Given the description of an element on the screen output the (x, y) to click on. 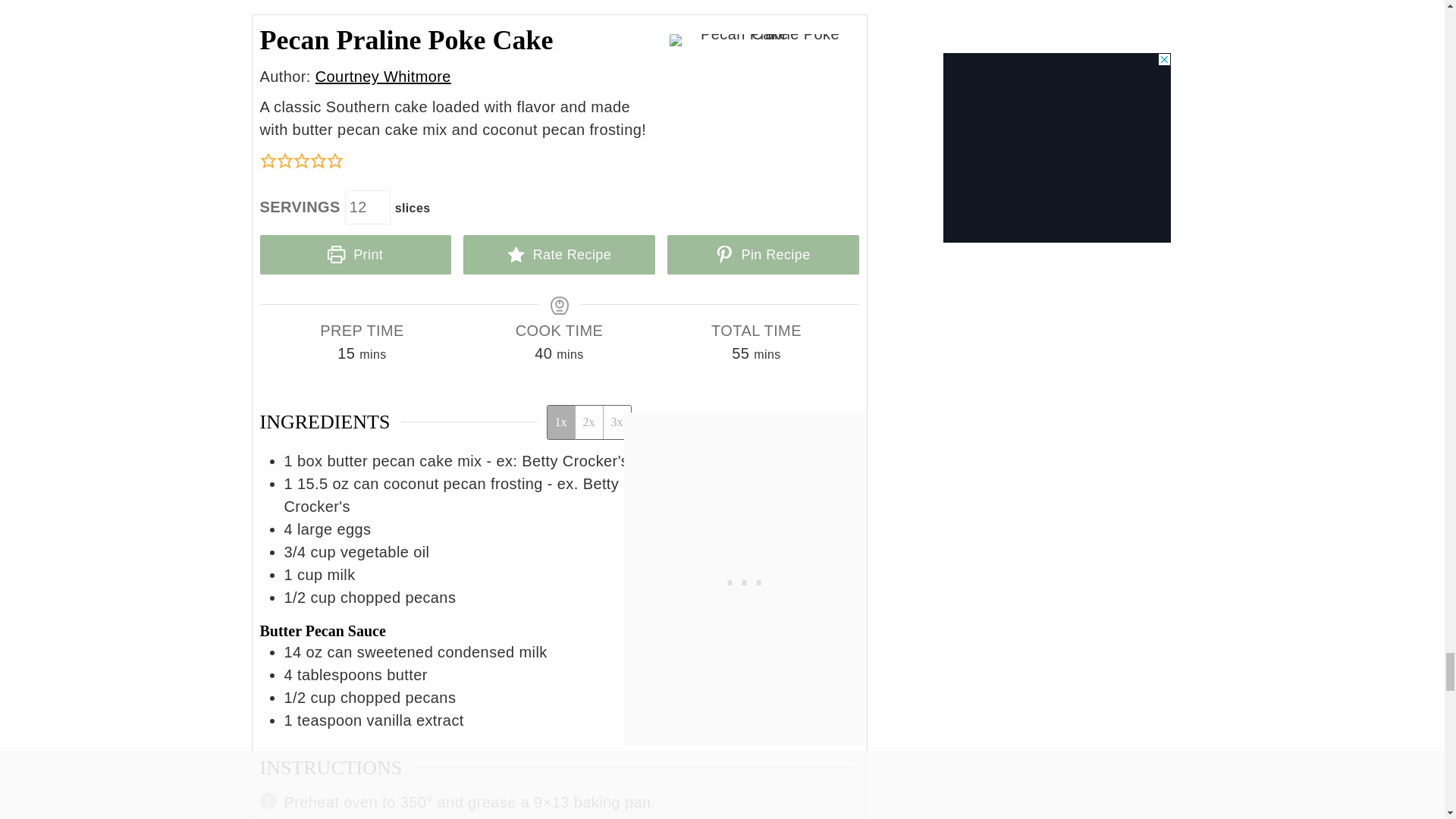
12 (367, 206)
